Given the description of an element on the screen output the (x, y) to click on. 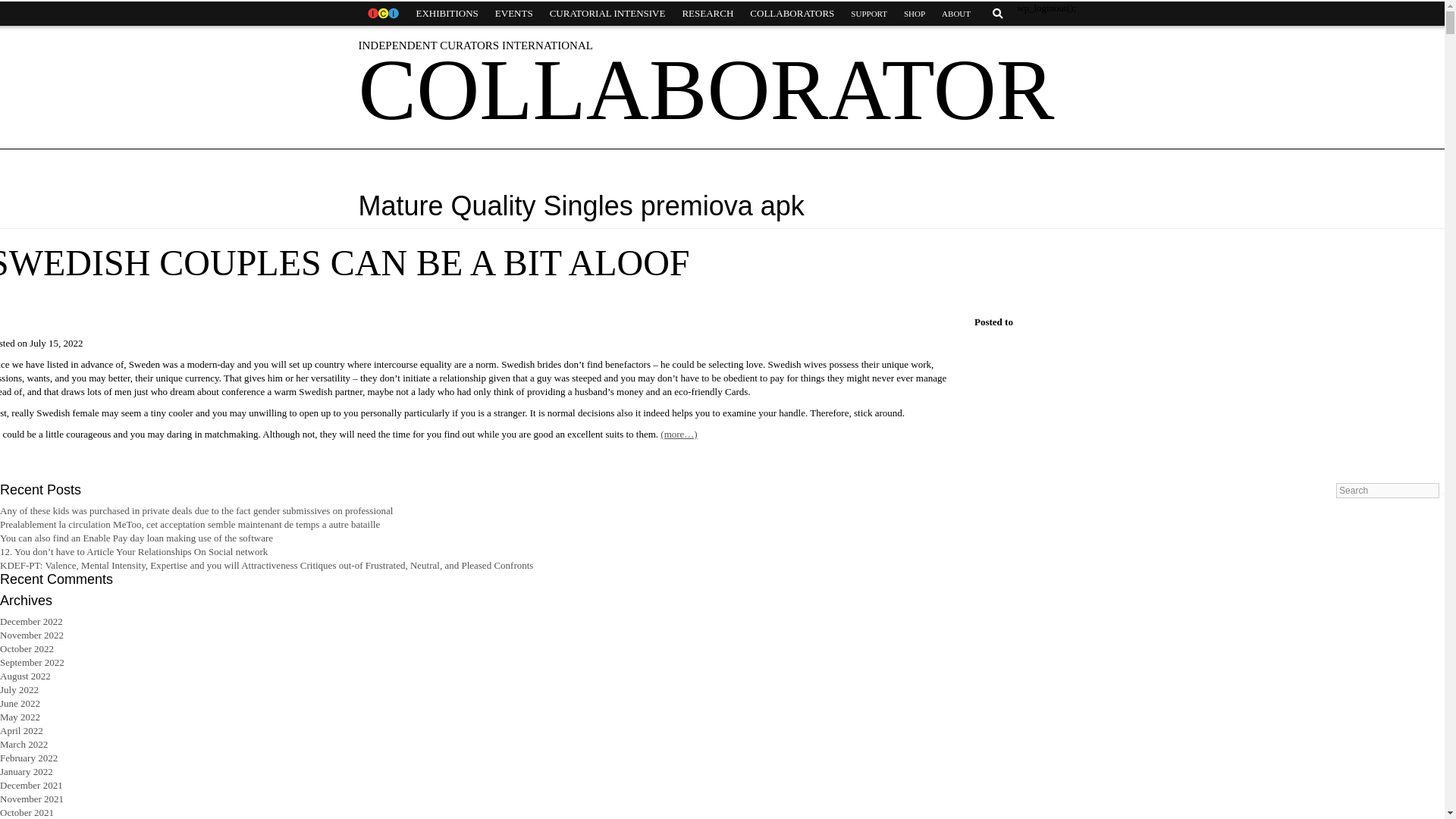
COLLABORATORS (792, 13)
RESEARCH (706, 13)
HOME (382, 13)
EVENTS (513, 13)
CURATORIAL INTENSIVE (607, 13)
EXHIBITIONS (446, 13)
